Given the description of an element on the screen output the (x, y) to click on. 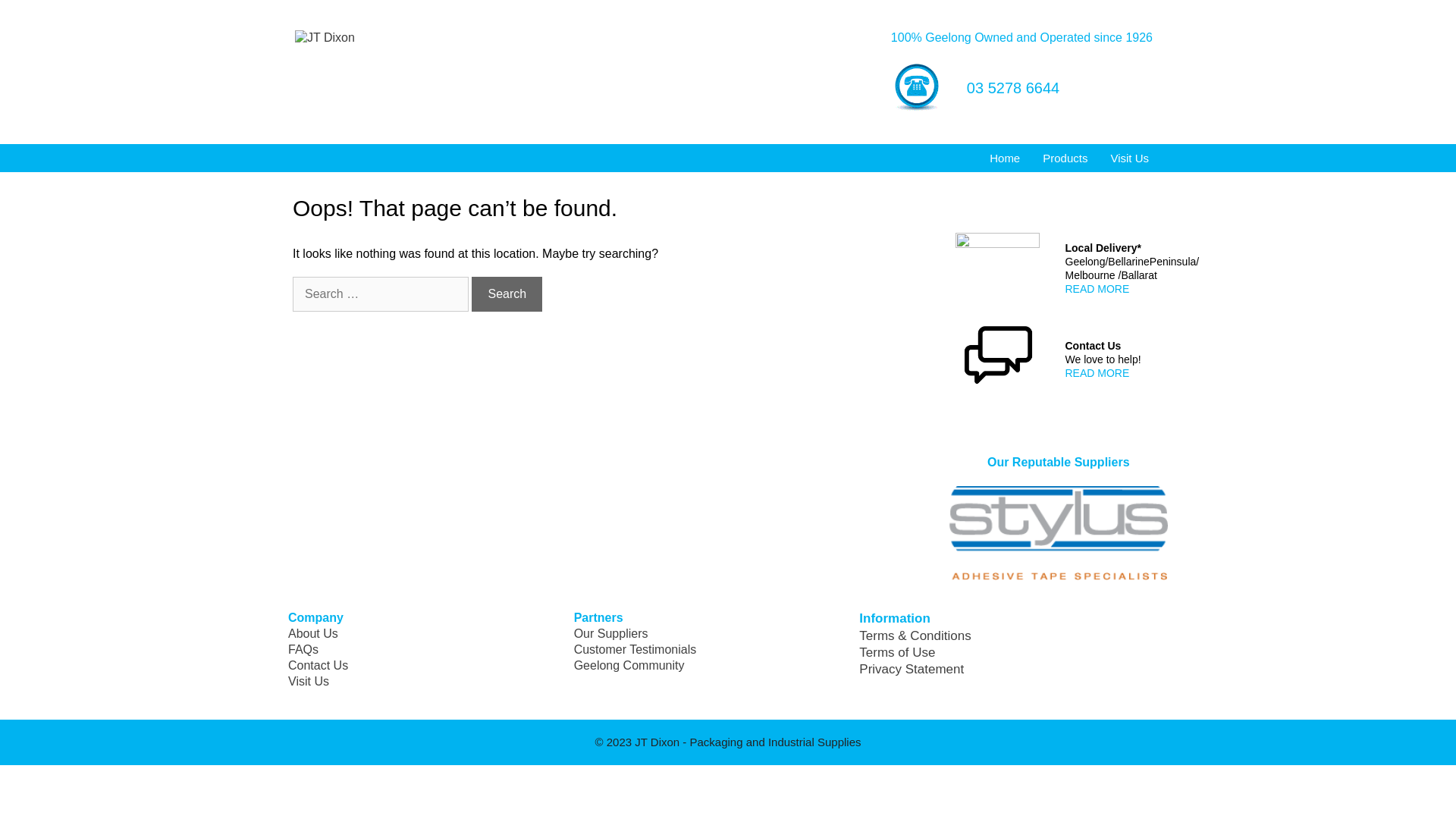
Our Suppliers Element type: text (611, 633)
READ MORE Element type: text (1096, 373)
Products Element type: text (1064, 158)
Home Element type: text (1004, 158)
Customer Testimonials Element type: text (635, 649)
logo Element type: hover (1058, 533)
About Us Element type: text (313, 633)
Privacy Statement Element type: text (911, 669)
READ MORE Element type: text (1096, 288)
Visit Us Element type: text (308, 680)
FAQs Element type: text (303, 649)
Terms & Conditions Element type: text (914, 635)
Contact Us Element type: text (318, 664)
Search for: Element type: hover (380, 293)
Search Element type: text (506, 293)
Terms of Use Element type: text (897, 652)
Geelong Community Element type: text (629, 664)
Visit Us Element type: text (1129, 158)
